Given the description of an element on the screen output the (x, y) to click on. 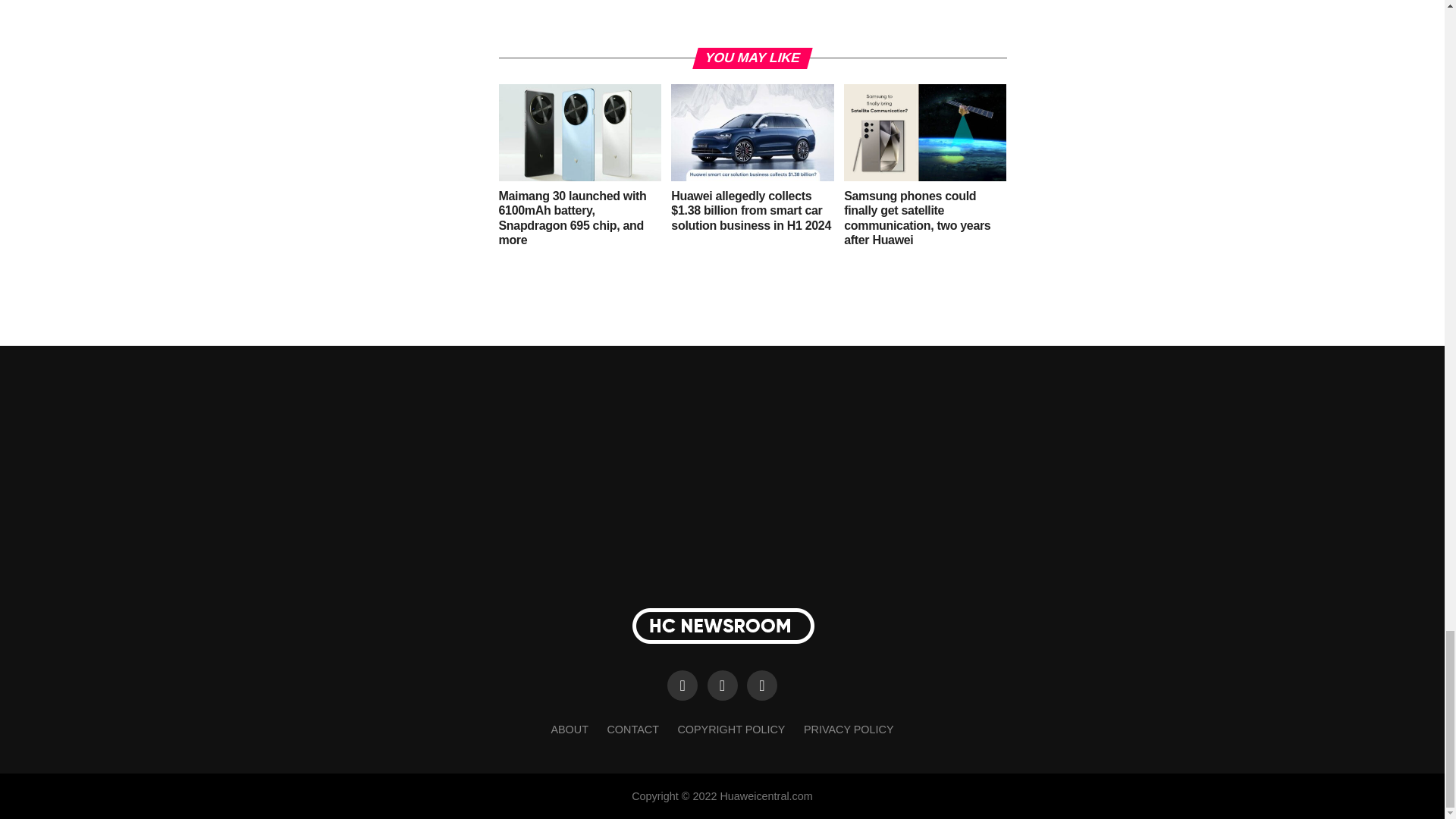
Advertisement (753, 17)
